Given the description of an element on the screen output the (x, y) to click on. 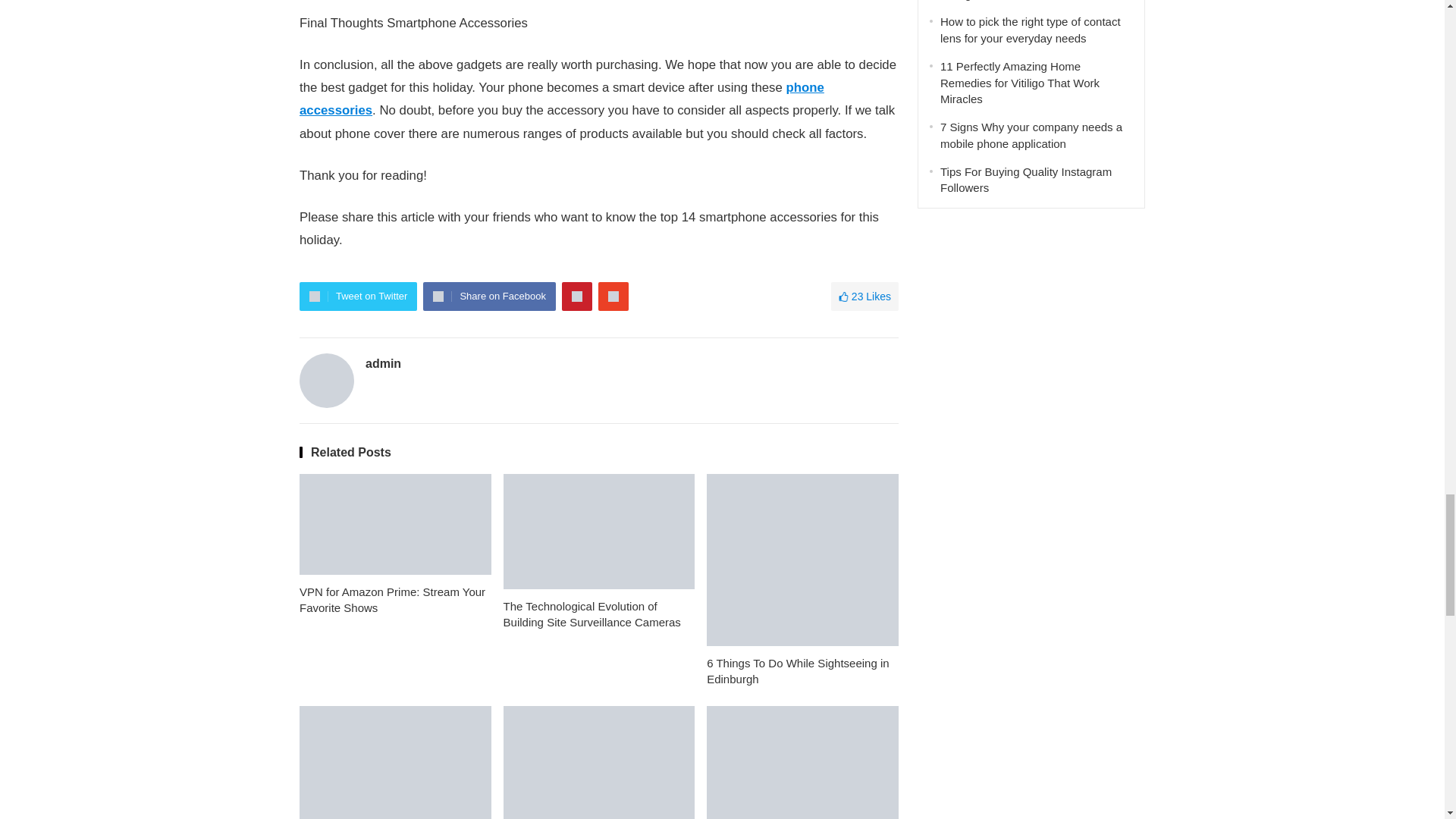
Like this post (864, 296)
